Given the description of an element on the screen output the (x, y) to click on. 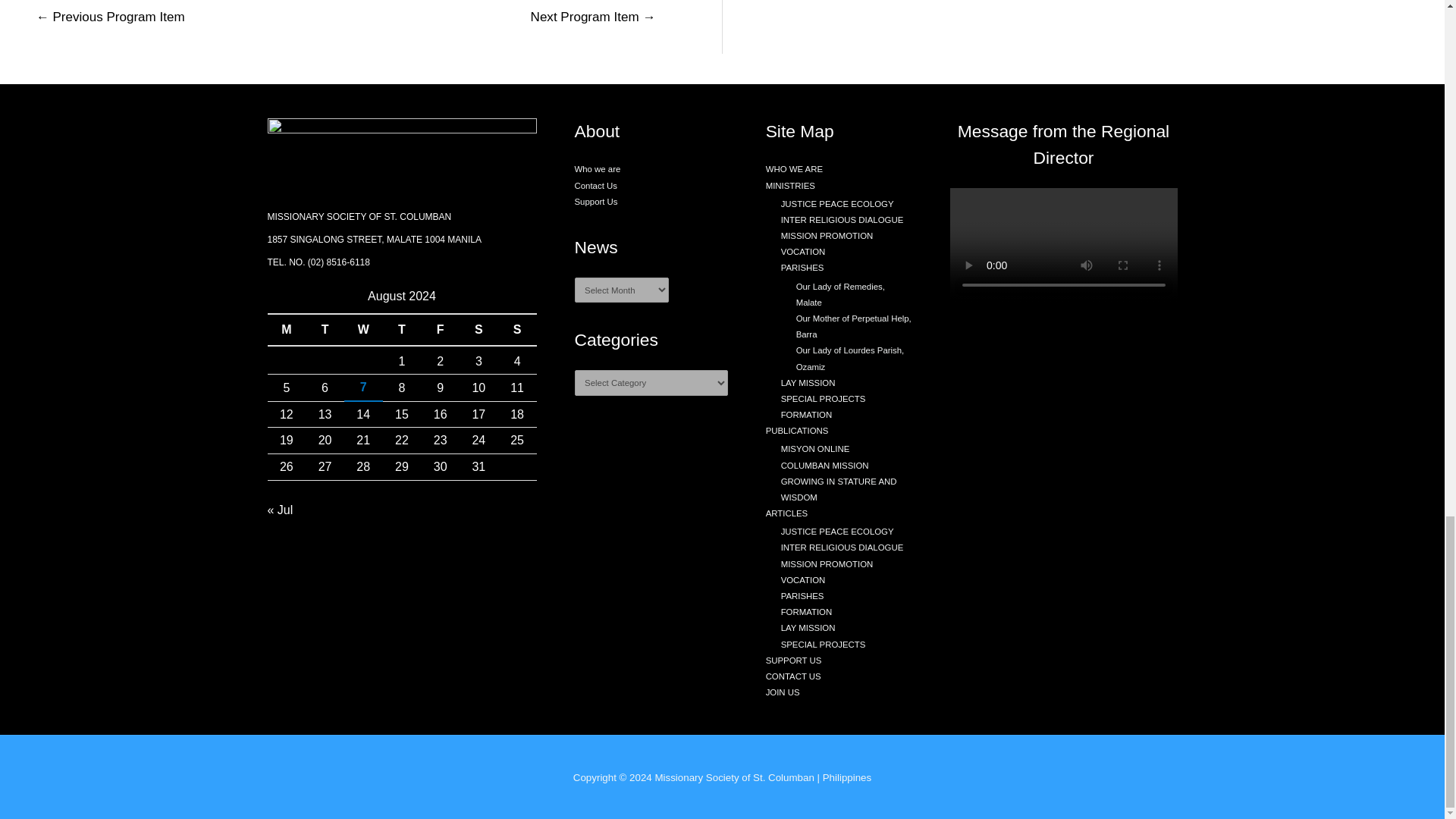
Friday (440, 329)
Thursday (402, 329)
Monday (285, 329)
Saturday (478, 329)
Sunday (517, 329)
Tuesday (324, 329)
Wednesday (362, 329)
